Given the description of an element on the screen output the (x, y) to click on. 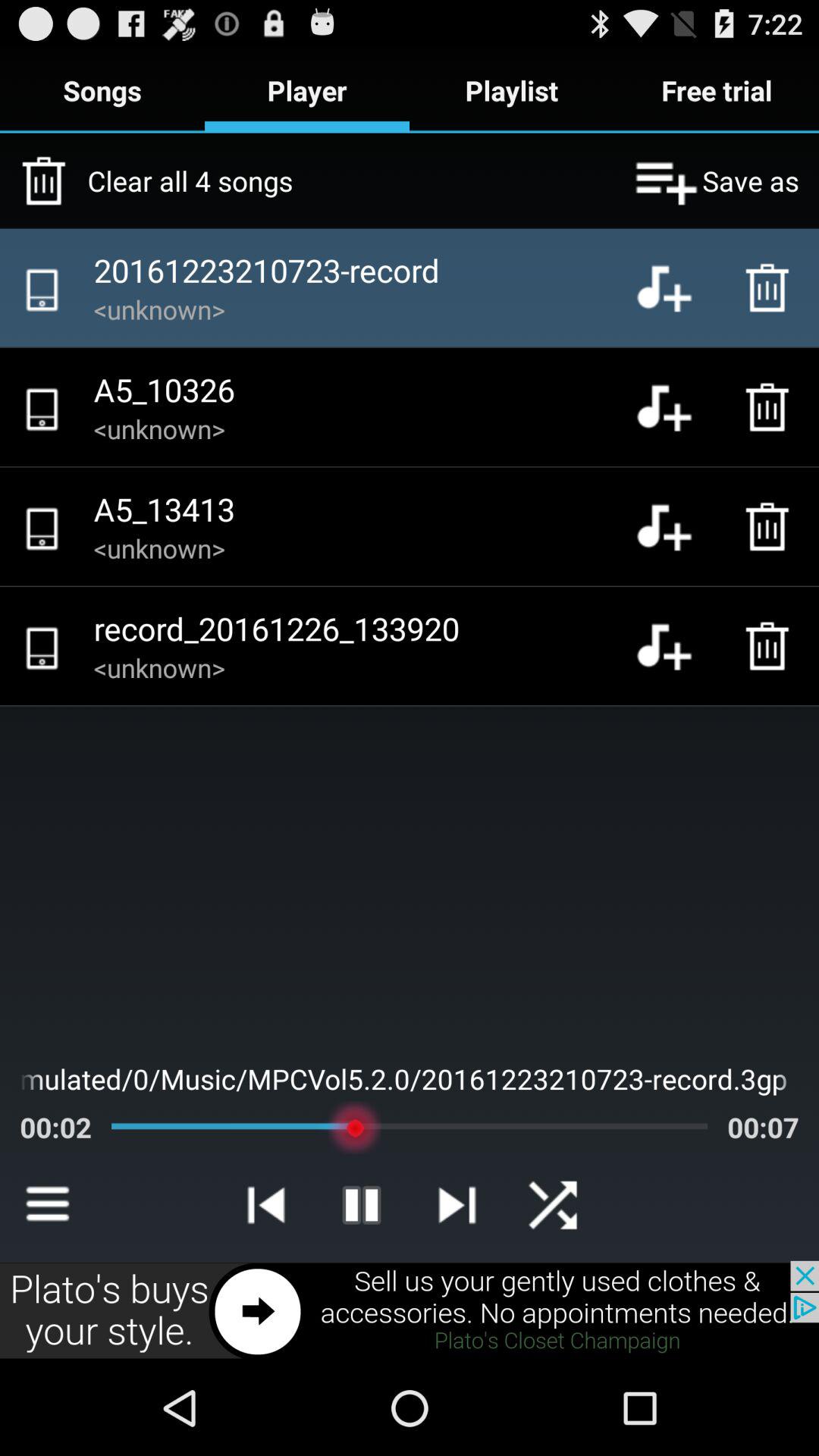
go to delete (771, 645)
